Given the description of an element on the screen output the (x, y) to click on. 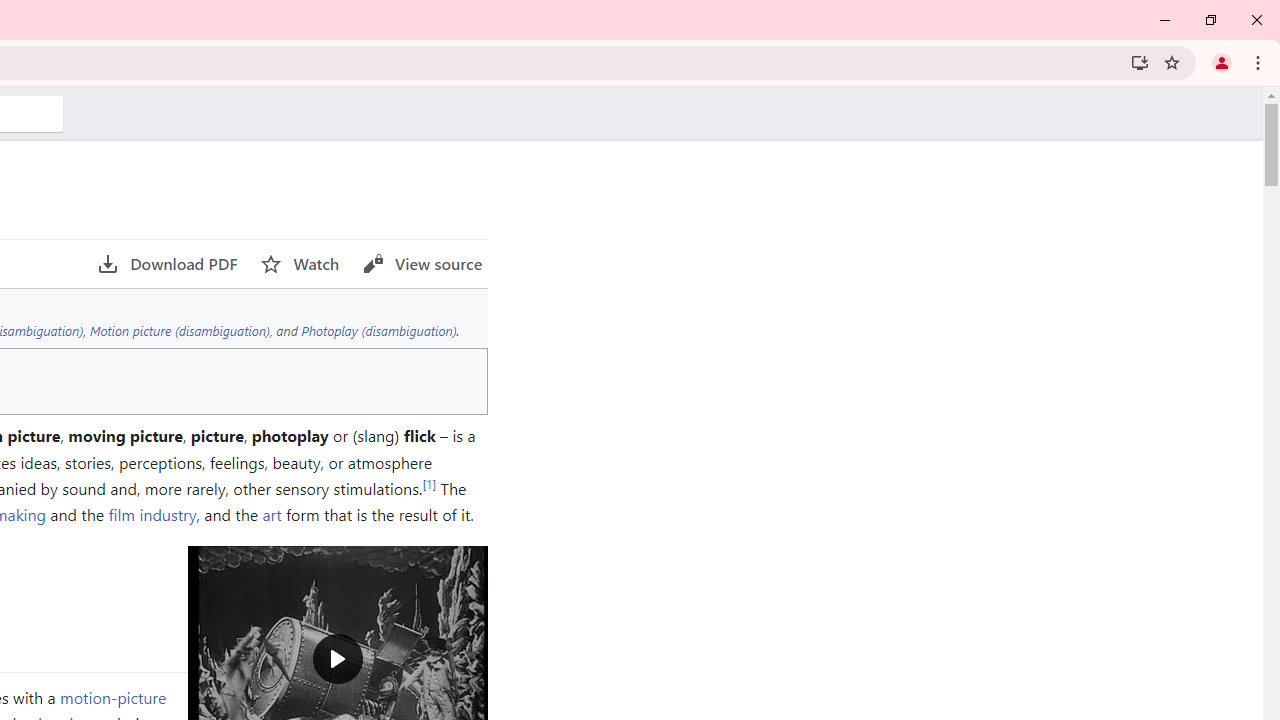
Install Wikipedia (1139, 62)
[1] (429, 483)
AutomationID: minerva-download (167, 263)
film industry (152, 514)
Motion picture (disambiguation) (179, 330)
art (271, 514)
Watch (300, 264)
Photoplay (disambiguation) (378, 330)
AutomationID: page-actions-watch (300, 263)
